Given the description of an element on the screen output the (x, y) to click on. 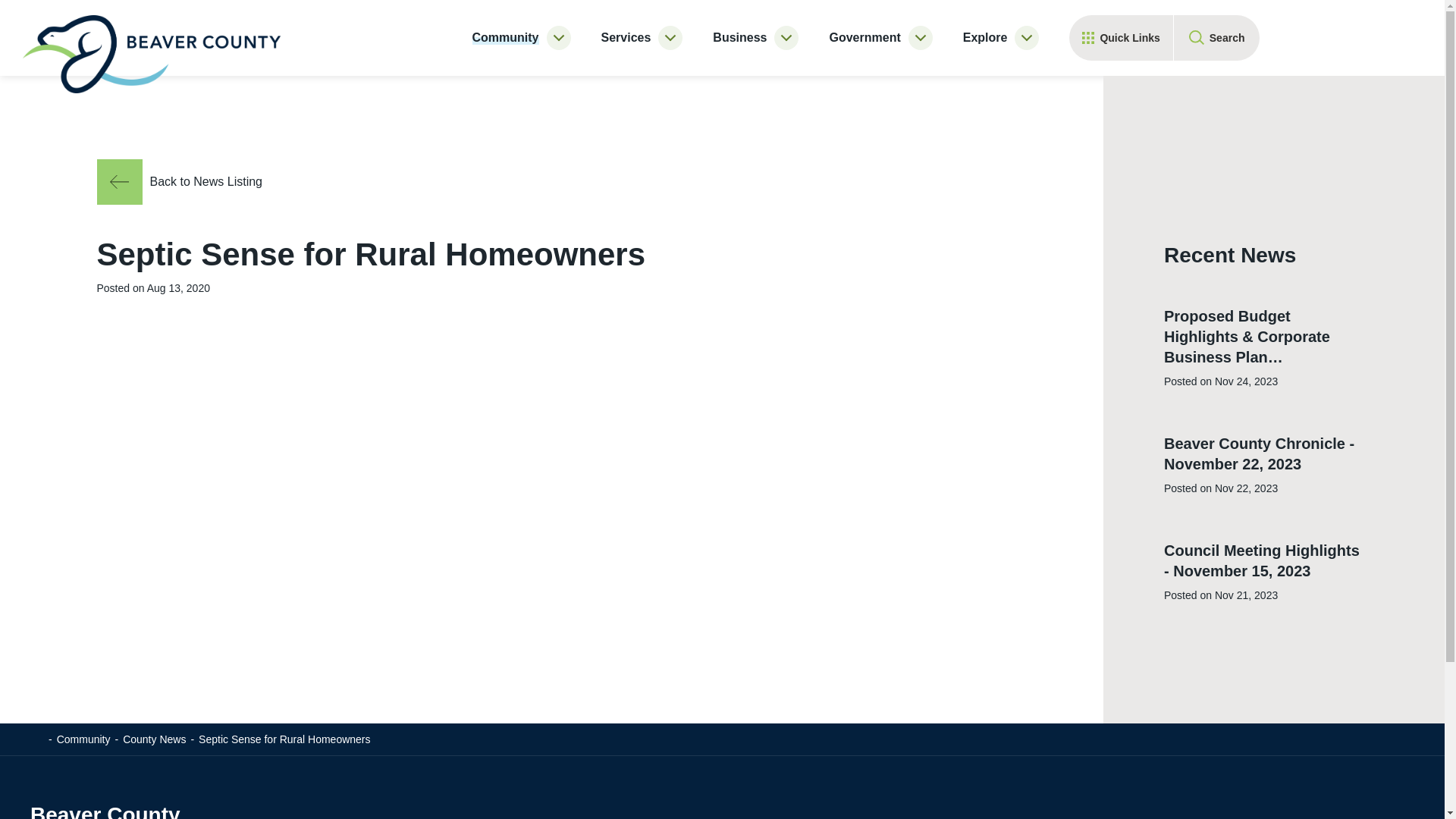
Community Element type: text (504, 37)
Services Element type: text (625, 37)
Beaver County Element type: hover (151, 55)
Back to home page Element type: text (36, 737)
Government Element type: text (864, 37)
Back to home page
-Community Element type: text (76, 739)
Explore Element type: text (985, 37)
Business Element type: text (739, 37)
Back to News Listing Element type: text (210, 181)
Back to home page
-County News Element type: text (147, 739)
